Given the description of an element on the screen output the (x, y) to click on. 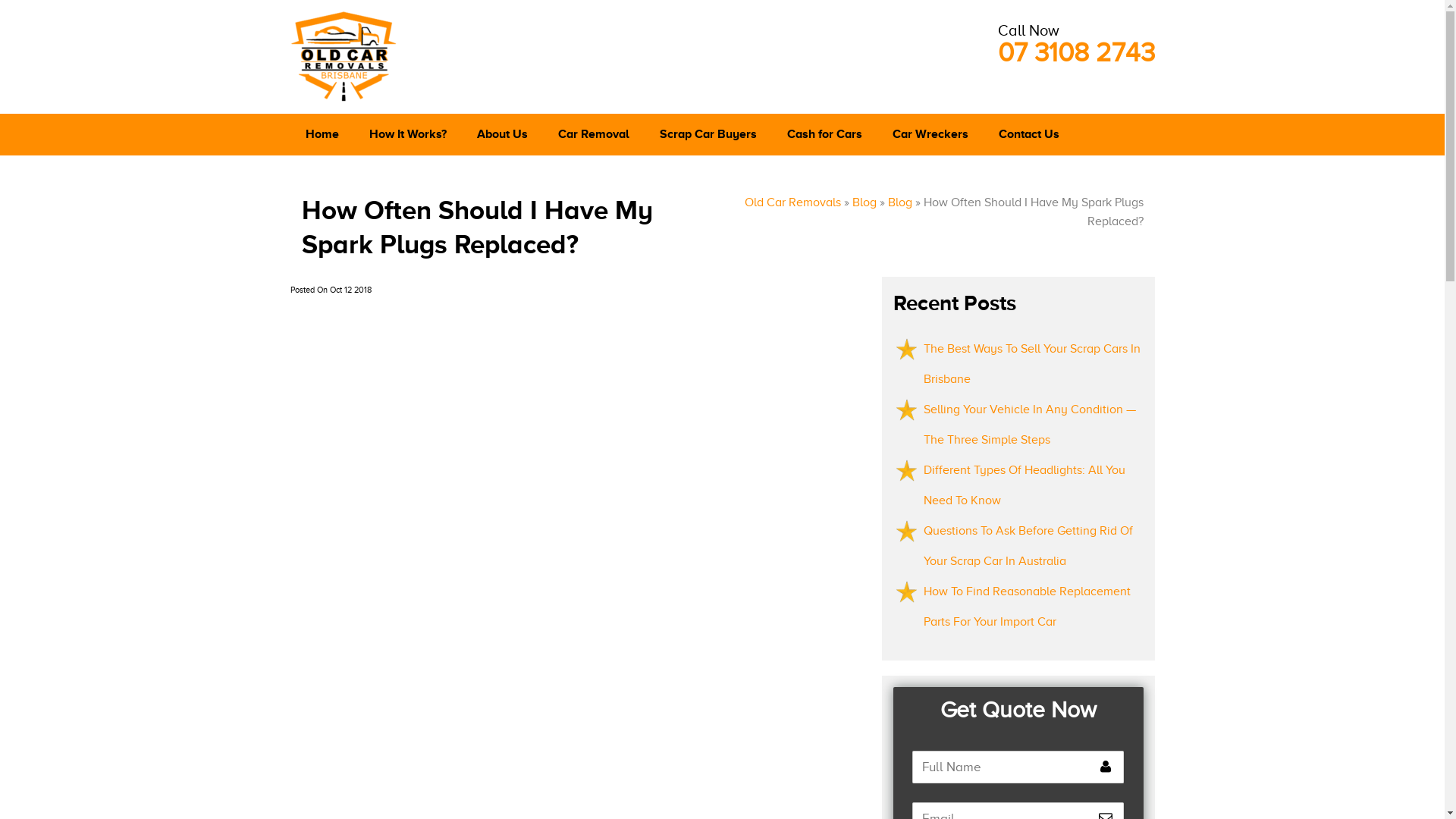
How To Find Reasonable Replacement Parts For Your Import Car Element type: text (1026, 606)
Blog Element type: text (864, 202)
How It Works? Element type: text (407, 134)
The Best Ways To Sell Your Scrap Cars In Brisbane Element type: text (1031, 363)
Call Now
07 3108 2743 Element type: text (1075, 41)
Blog Element type: text (899, 202)
Scrap Car Buyers Element type: text (707, 134)
Cash for Cars Element type: text (824, 134)
About Us Element type: text (501, 134)
Different Types Of Headlights: All You Need To Know Element type: text (1024, 485)
Car Wreckers Element type: text (929, 134)
Old Car Removals Element type: text (792, 202)
Contact Us Element type: text (1027, 134)
Car Removal Element type: text (593, 134)
Home Element type: text (321, 134)
